Given the description of an element on the screen output the (x, y) to click on. 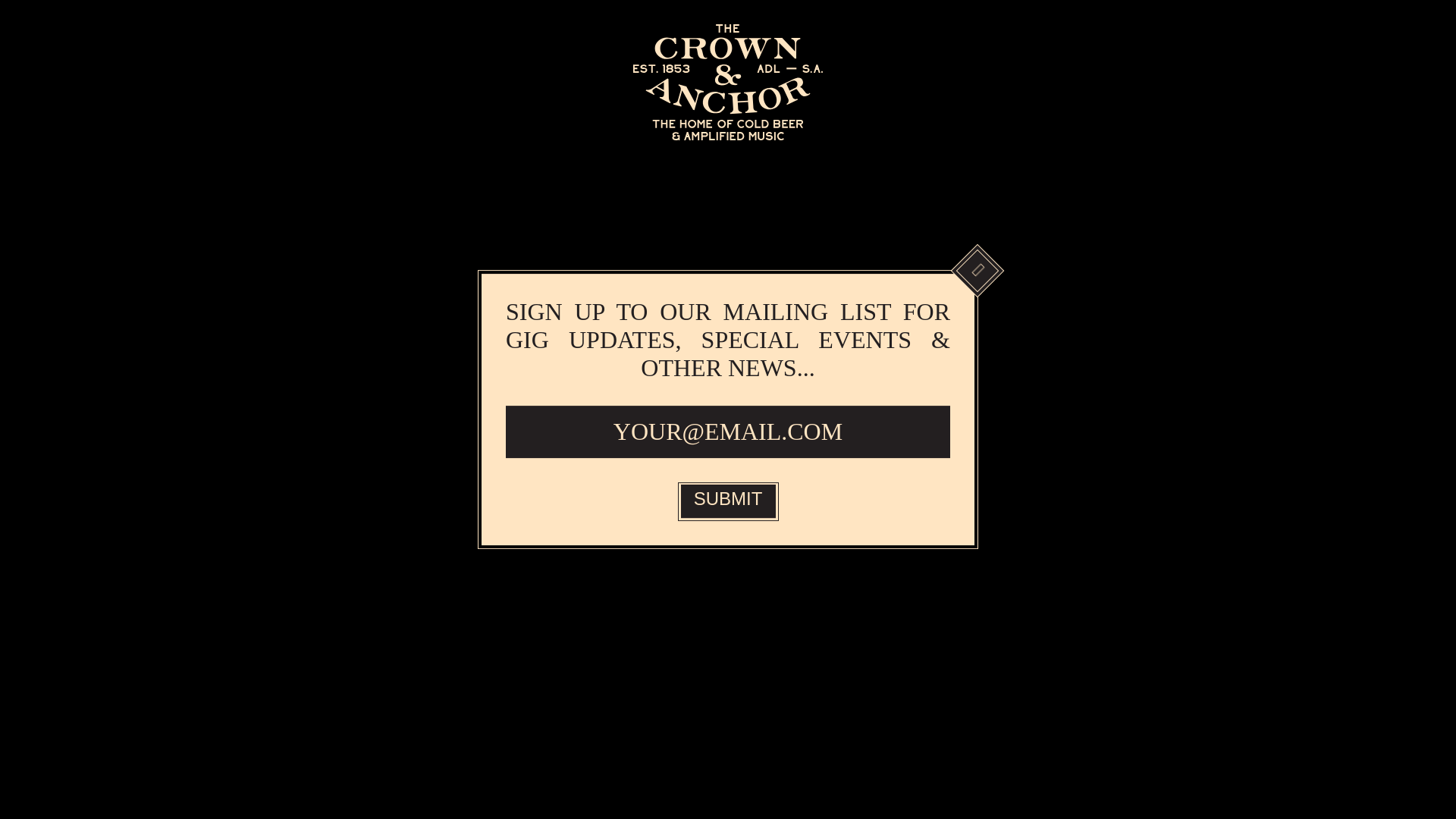
SUBMIT Element type: text (727, 501)
